Given the description of an element on the screen output the (x, y) to click on. 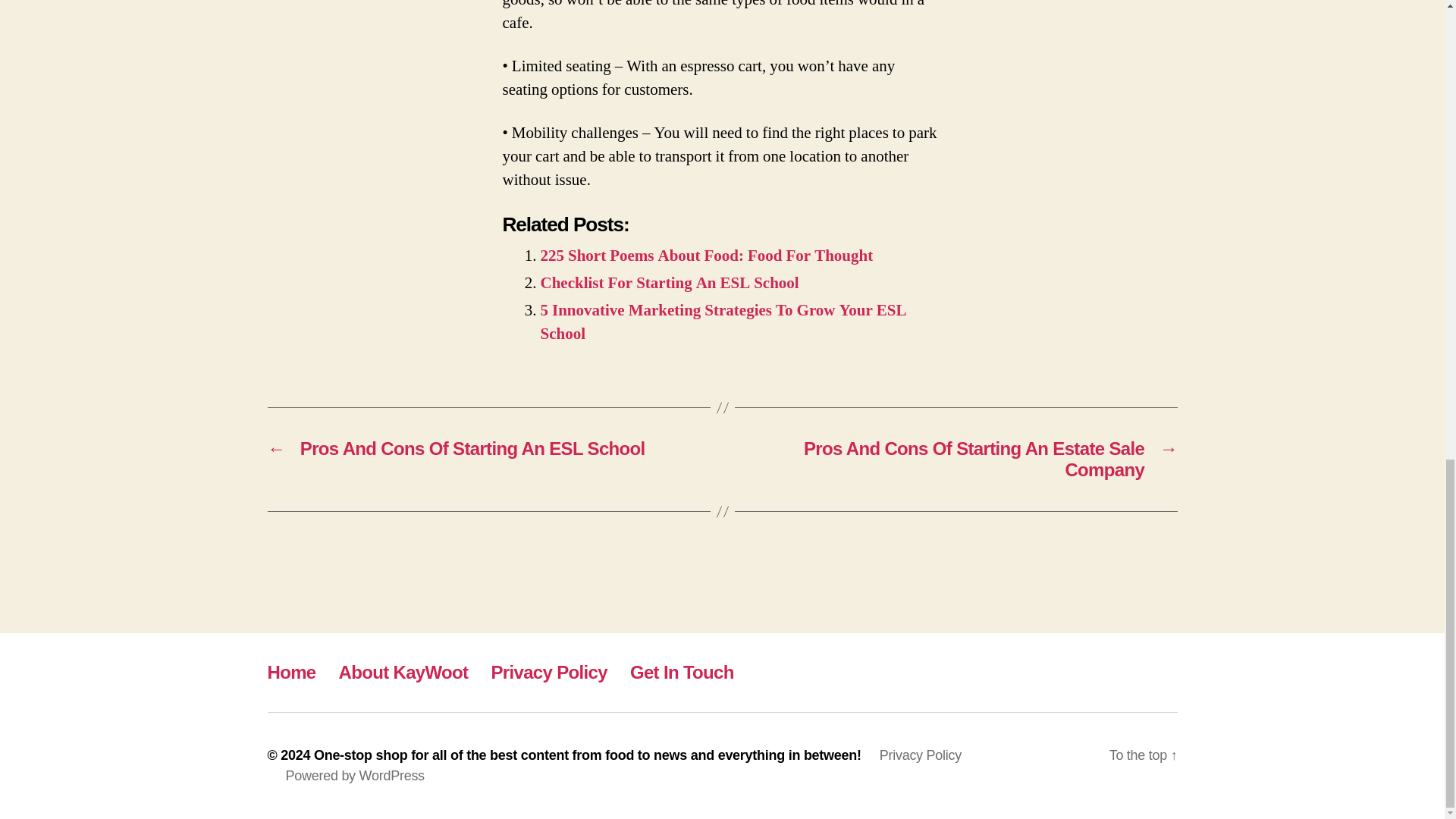
5 Innovative Marketing Strategies To Grow Your ESL School (722, 321)
Checklist For Starting An ESL School (668, 282)
225 Short Poems About Food: Food For Thought (706, 255)
